Given the description of an element on the screen output the (x, y) to click on. 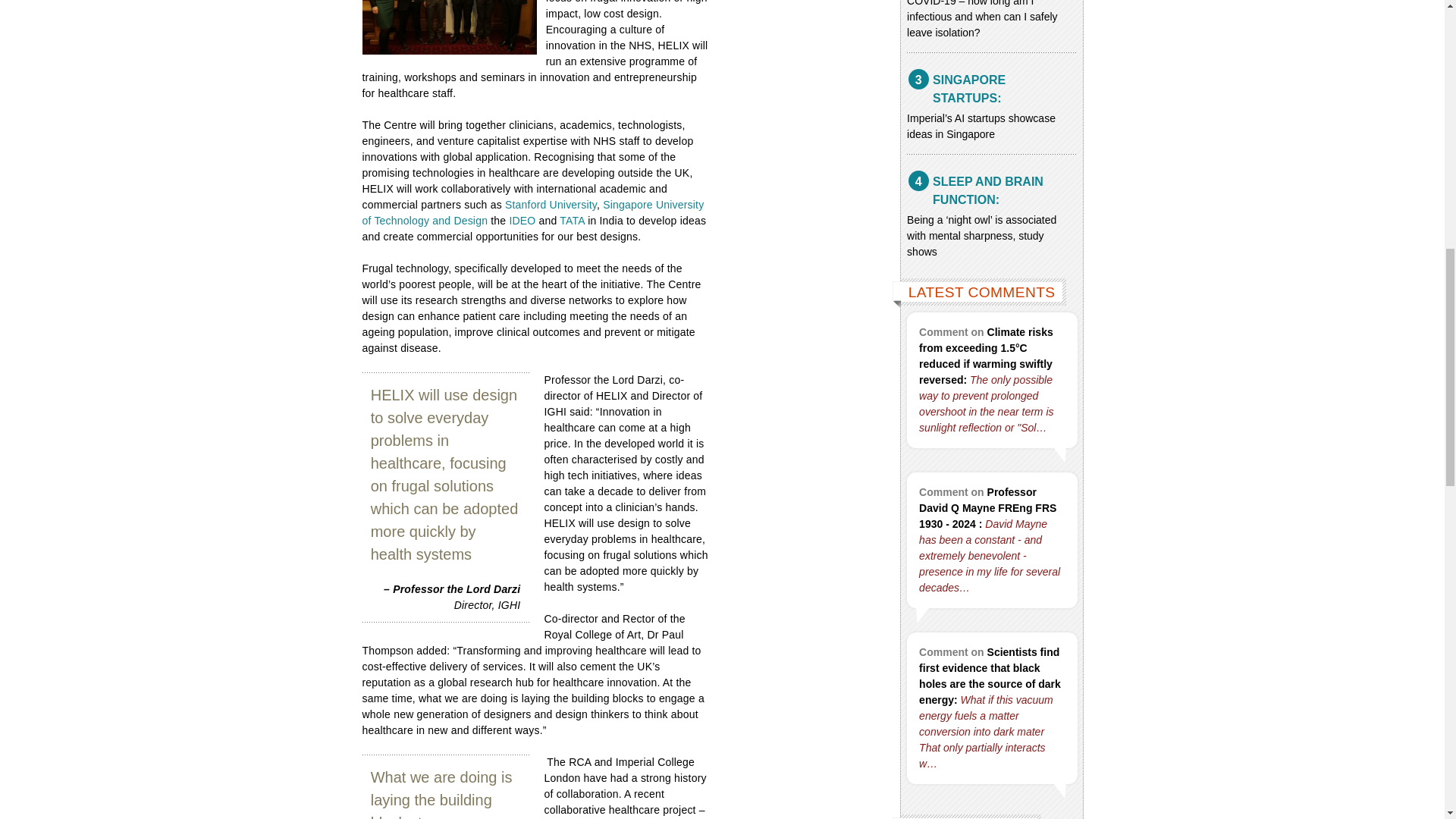
TATA (572, 220)
Singapore University of Technology and Design (533, 212)
Stanford University (550, 204)
Some of the Helix designers (449, 27)
IDEO (521, 220)
